Given the description of an element on the screen output the (x, y) to click on. 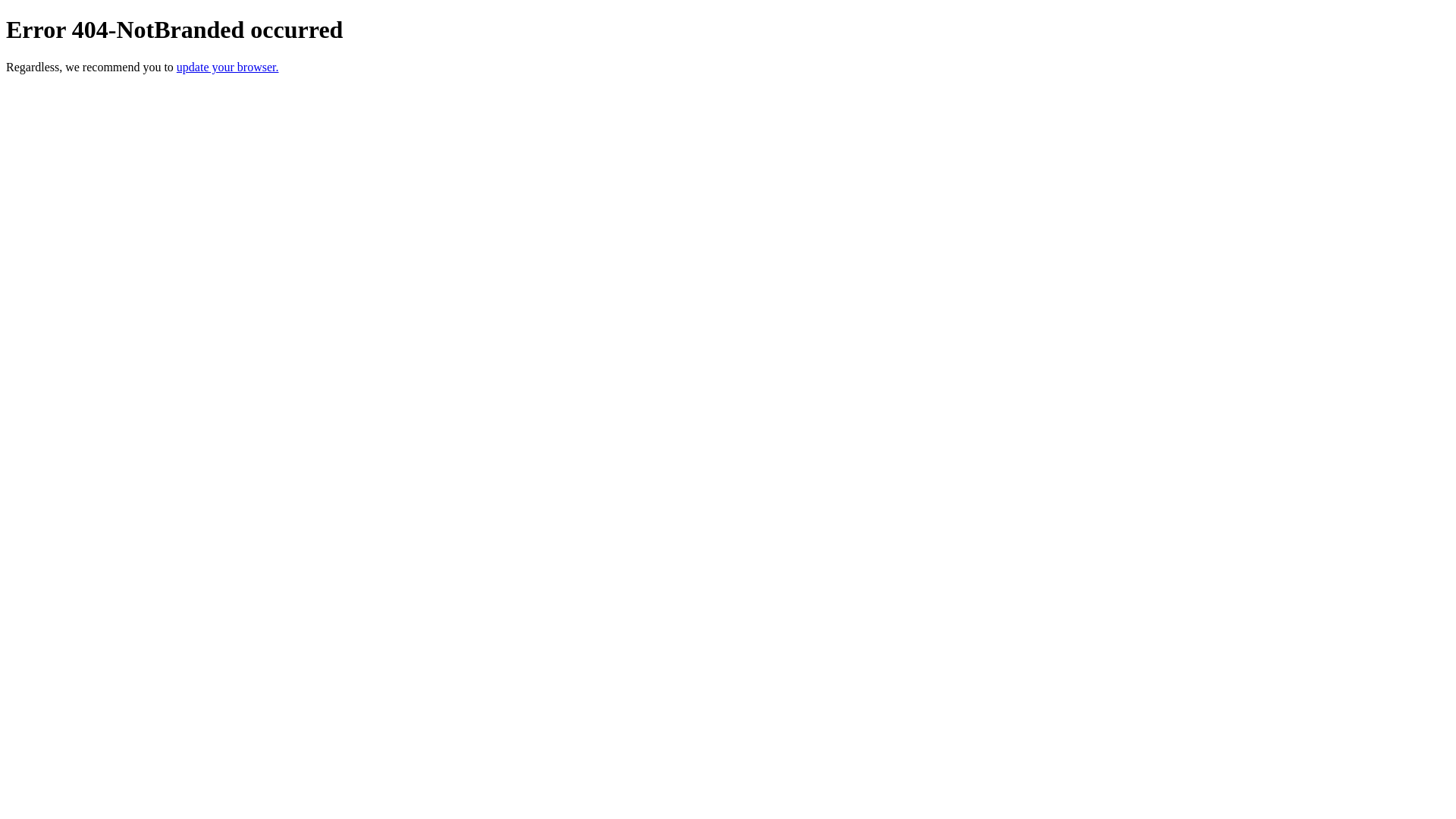
update your browser. Element type: text (227, 66)
